Given the description of an element on the screen output the (x, y) to click on. 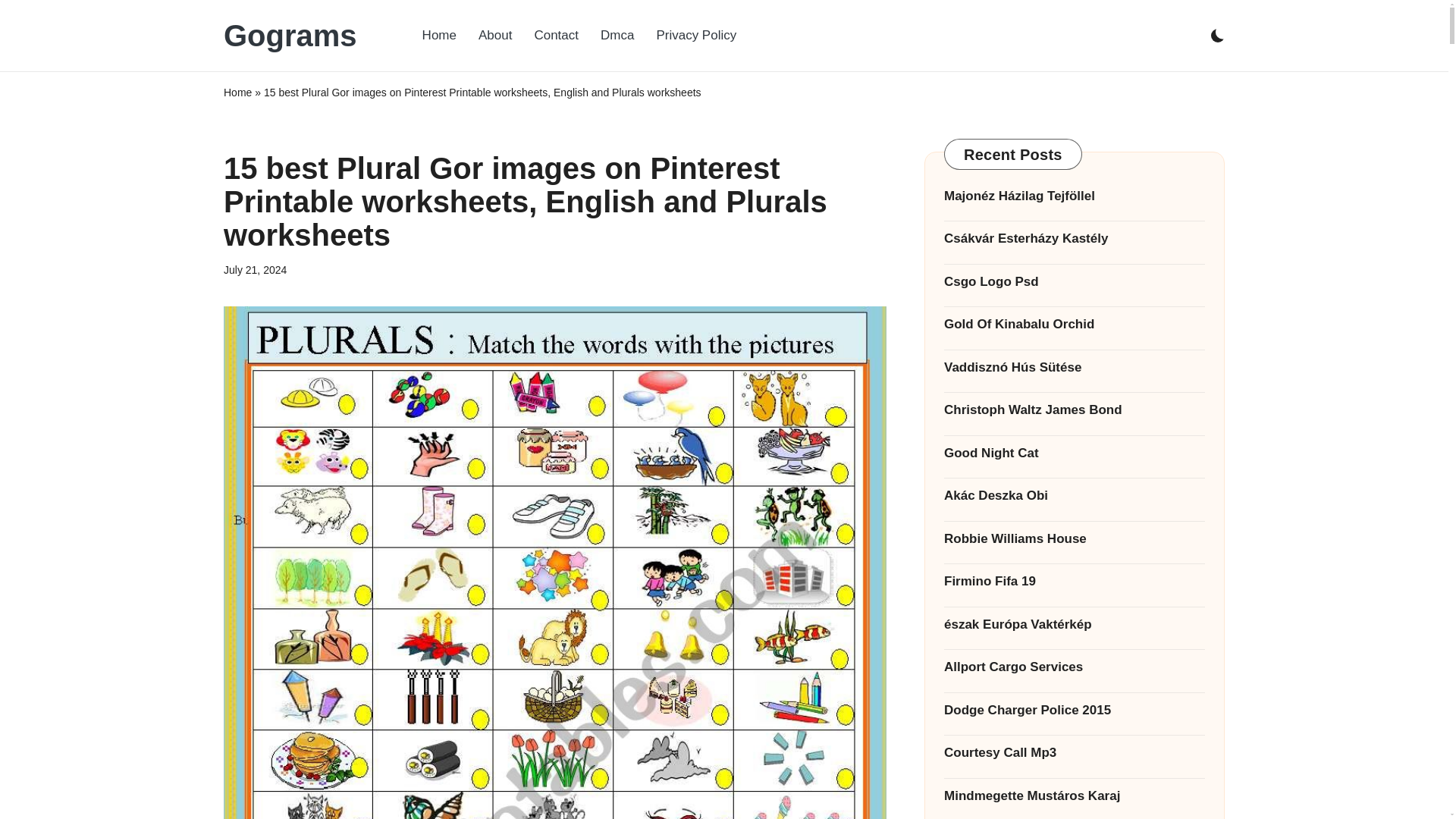
Courtesy Call Mp3 (1074, 752)
Gold Of Kinabalu Orchid (1074, 324)
Good Night Cat (1074, 452)
Firmino Fifa 19 (1074, 581)
Dodge Charger Police 2015 (1074, 710)
Robbie Williams House (1074, 538)
Privacy Policy (695, 35)
Contact (555, 35)
Christoph Waltz James Bond (1074, 410)
Home (237, 92)
Gograms (290, 35)
Dmca (617, 35)
About (494, 35)
Home (439, 35)
Csgo Logo Psd (1074, 281)
